Given the description of an element on the screen output the (x, y) to click on. 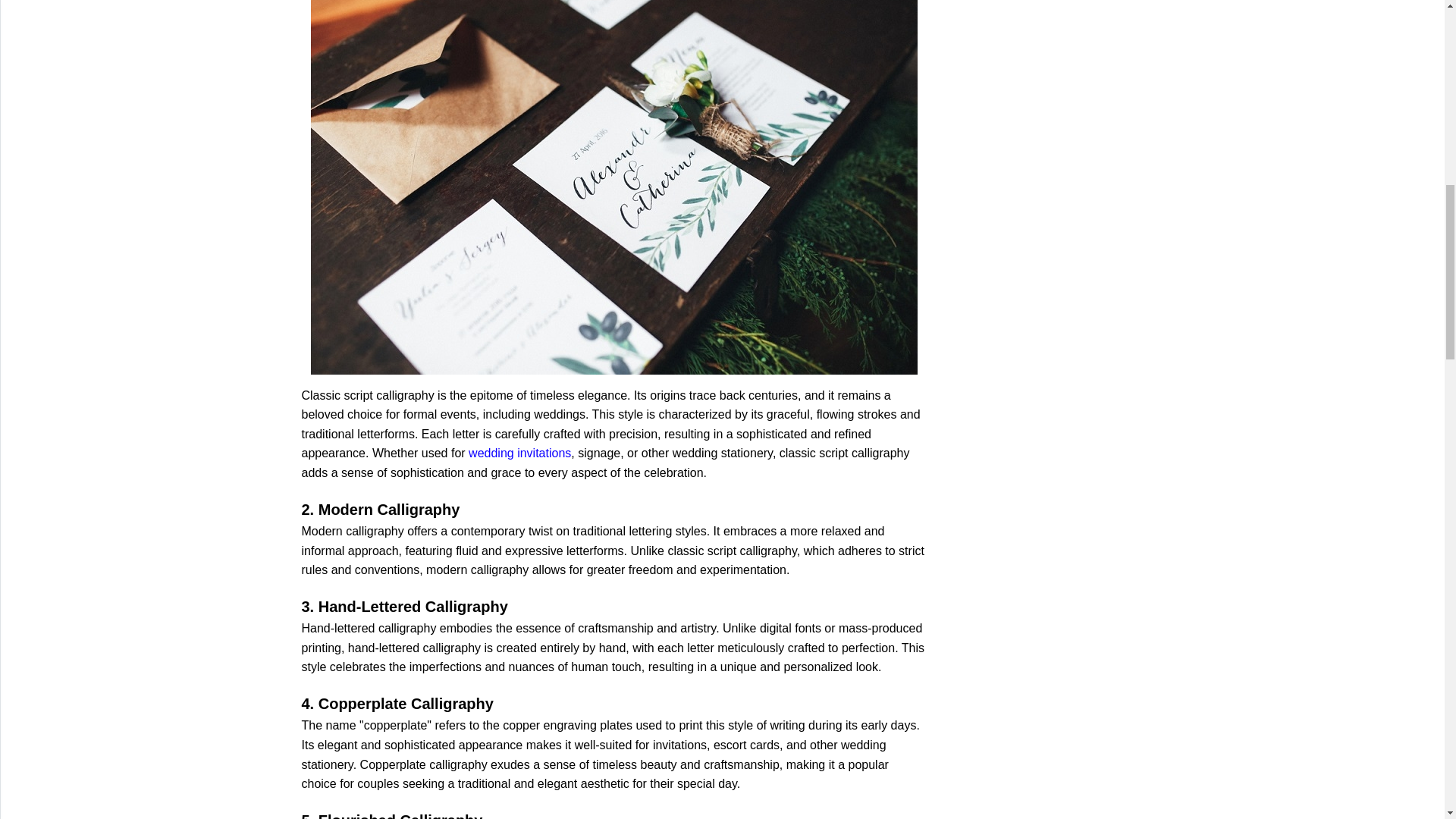
wedding invitations (519, 452)
